Given the description of an element on the screen output the (x, y) to click on. 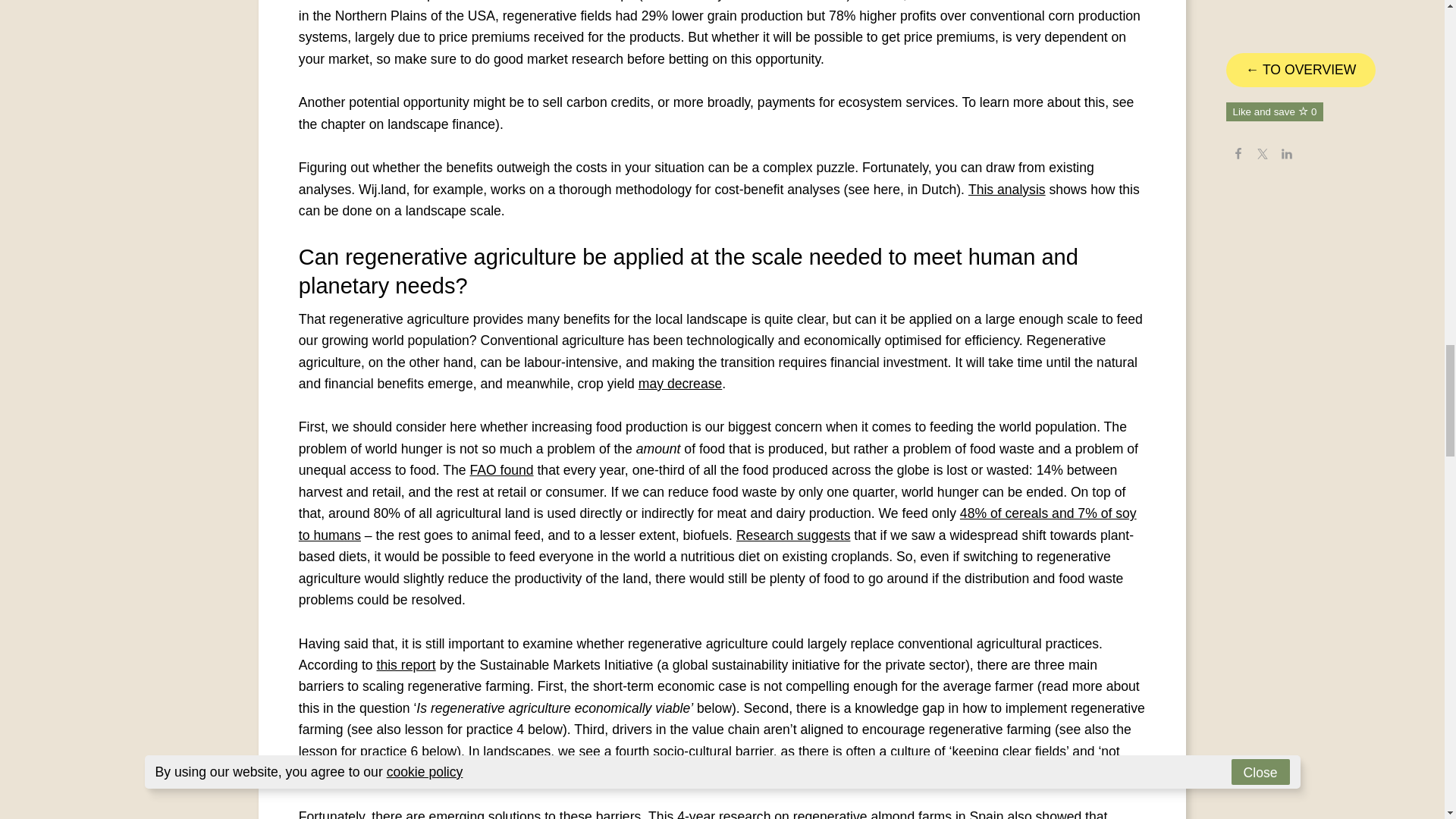
This analysis (1006, 189)
this report (406, 664)
This 4-year research (708, 814)
may decrease (680, 383)
Research suggests (793, 534)
FAO found (500, 469)
US researchers showed (981, 0)
